Given the description of an element on the screen output the (x, y) to click on. 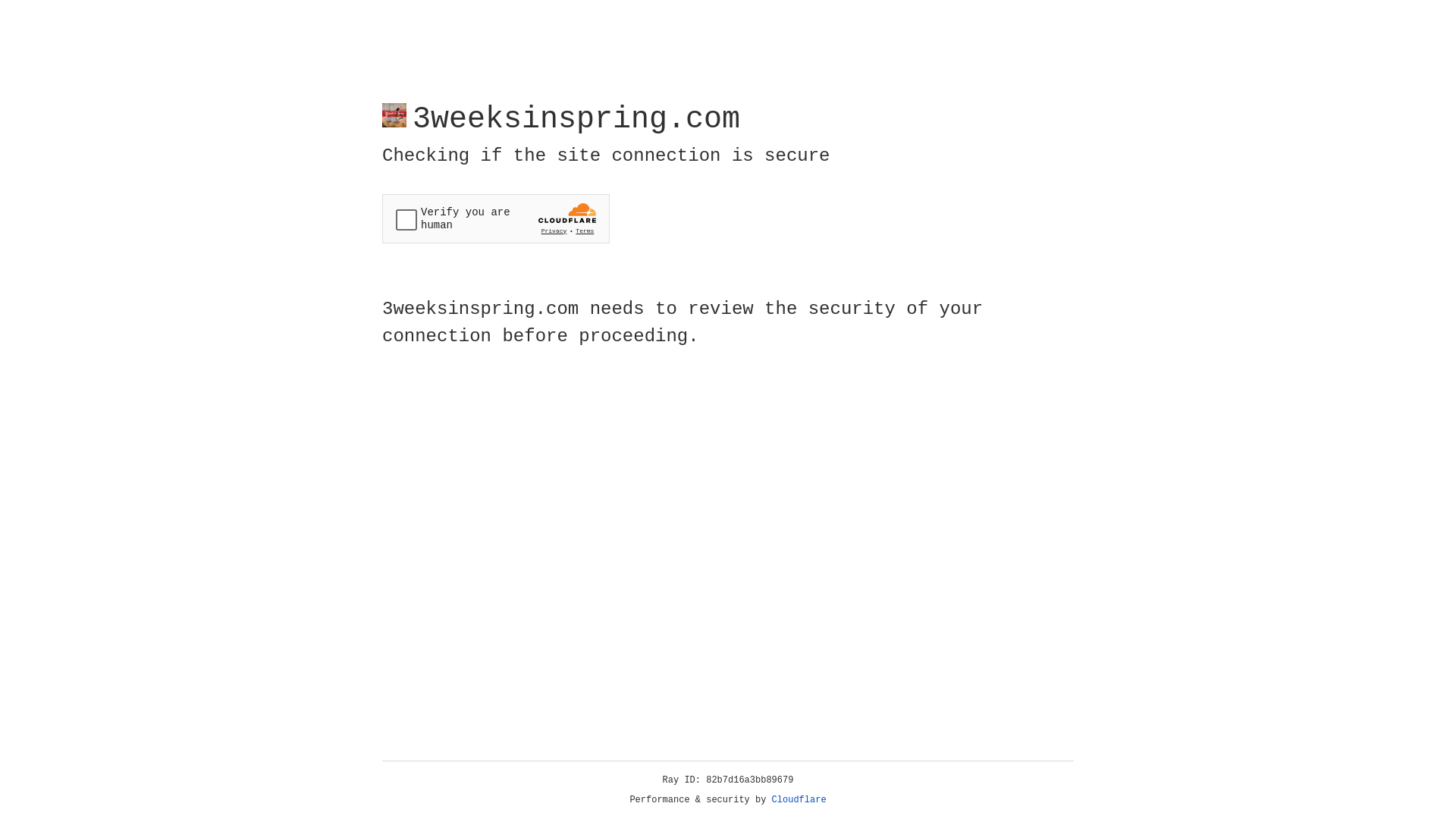
Widget containing a Cloudflare security challenge Element type: hover (495, 218)
Cloudflare Element type: text (798, 799)
